Given the description of an element on the screen output the (x, y) to click on. 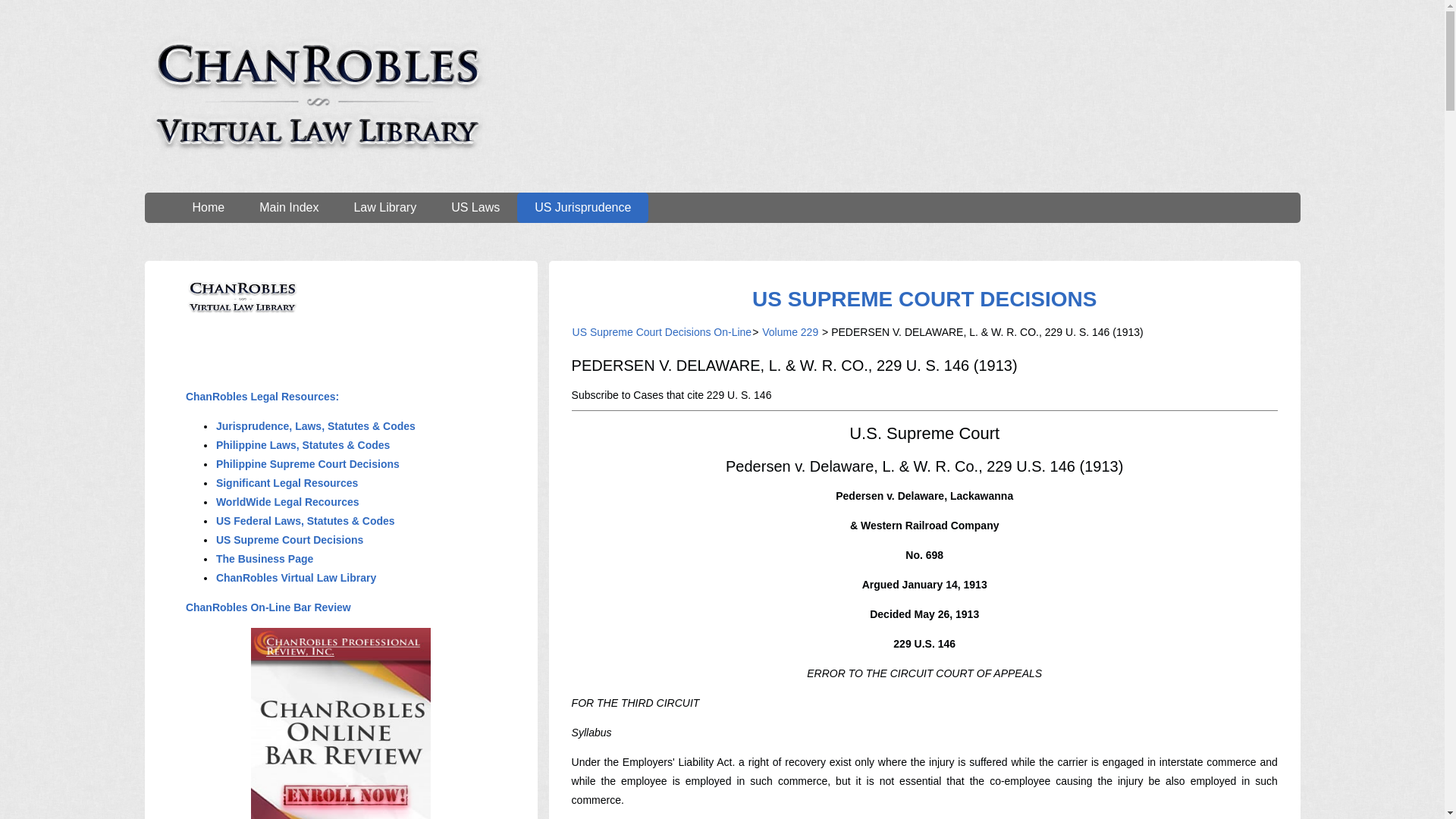
Philippine Supreme Court Decisions (307, 463)
US SUPREME COURT DECISIONS (924, 299)
US Laws (474, 207)
Volume 229 (789, 331)
US Supreme Court Decisions On-Line (662, 331)
Main Index (288, 207)
US Jurisprudence (581, 207)
United States Supreme Court Decisions - On-Line (924, 299)
Home (207, 207)
ChanRobles Legal Resources: (261, 396)
